Given the description of an element on the screen output the (x, y) to click on. 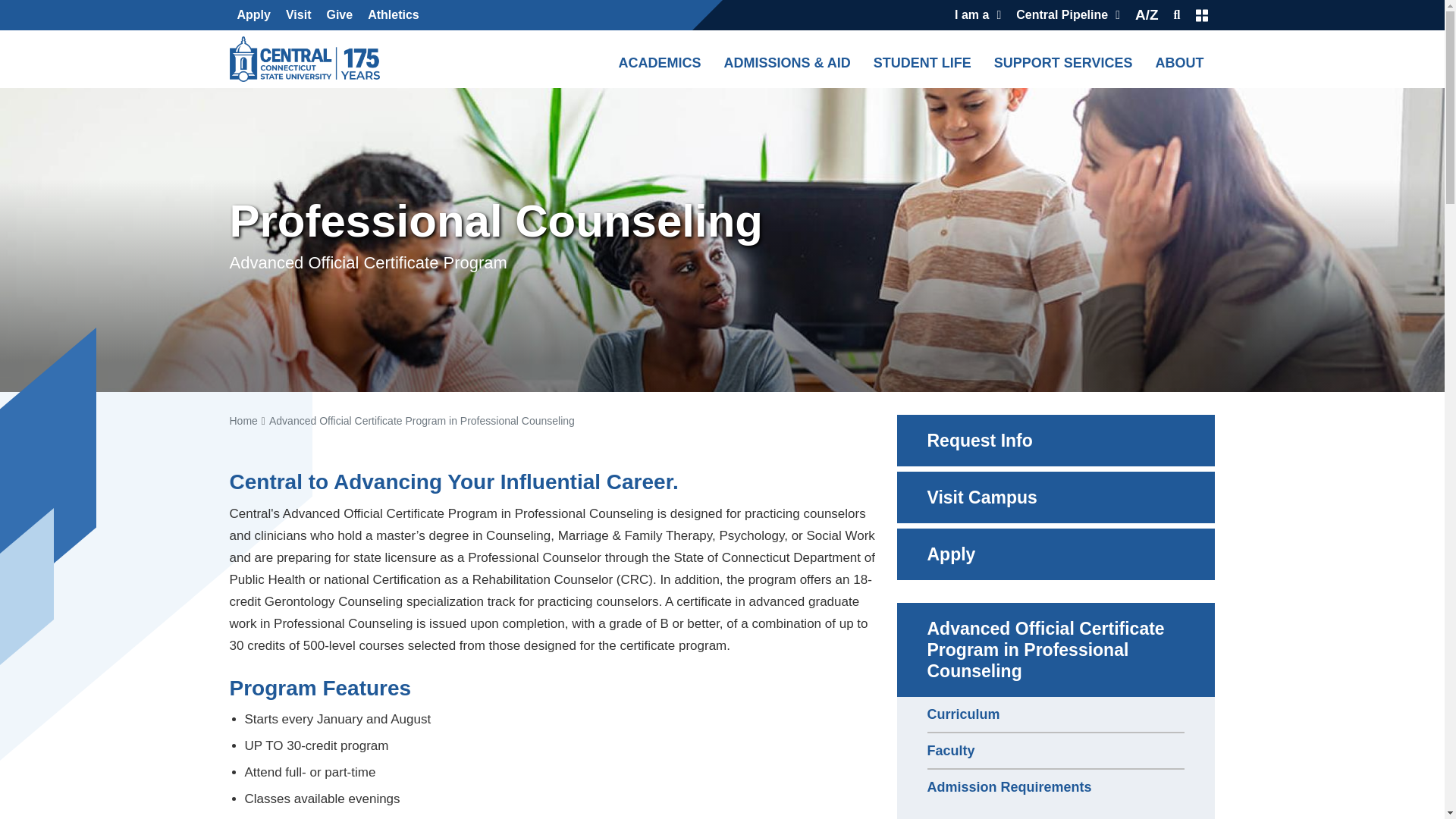
Give (338, 15)
Central Pipeline (1067, 15)
Athletics (392, 15)
Visit (298, 15)
ACADEMICS (658, 58)
I am a (978, 15)
Apply (253, 15)
Quick Links (1201, 15)
Home (307, 58)
